Given the description of an element on the screen output the (x, y) to click on. 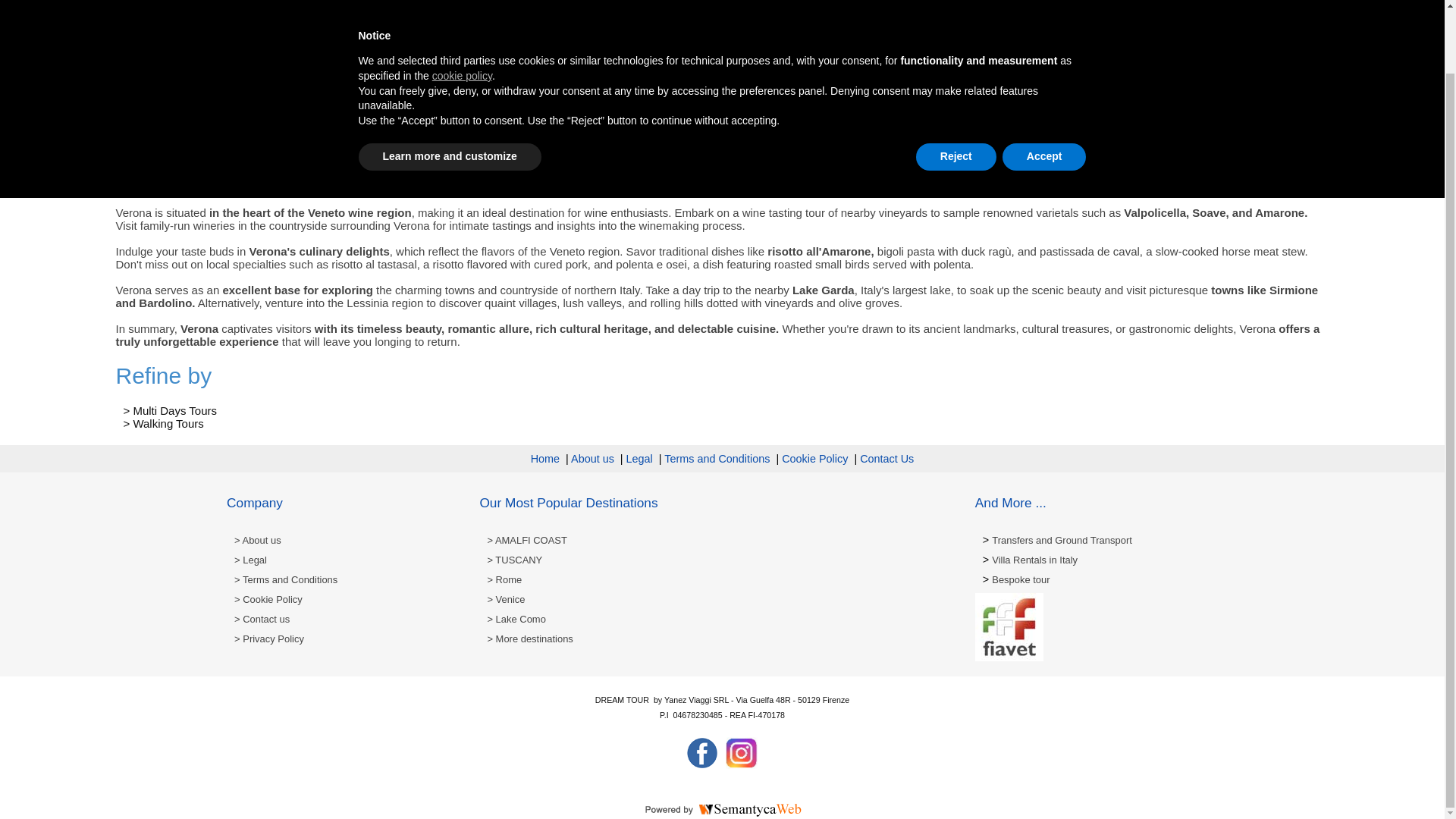
Lake Como (515, 618)
TUSCANY (513, 559)
Contact Us (887, 458)
AMALFI COAST (526, 540)
Venice (505, 599)
Terms and Conditions (285, 579)
Legal (250, 559)
Terms and Conditions (716, 458)
Villa Rentals in Italy (1034, 559)
About us (257, 540)
Transfers and Ground Transport (1061, 540)
Home (545, 458)
Cookie Policy (814, 458)
Privacy Policy (269, 638)
Search (956, 4)
